Given the description of an element on the screen output the (x, y) to click on. 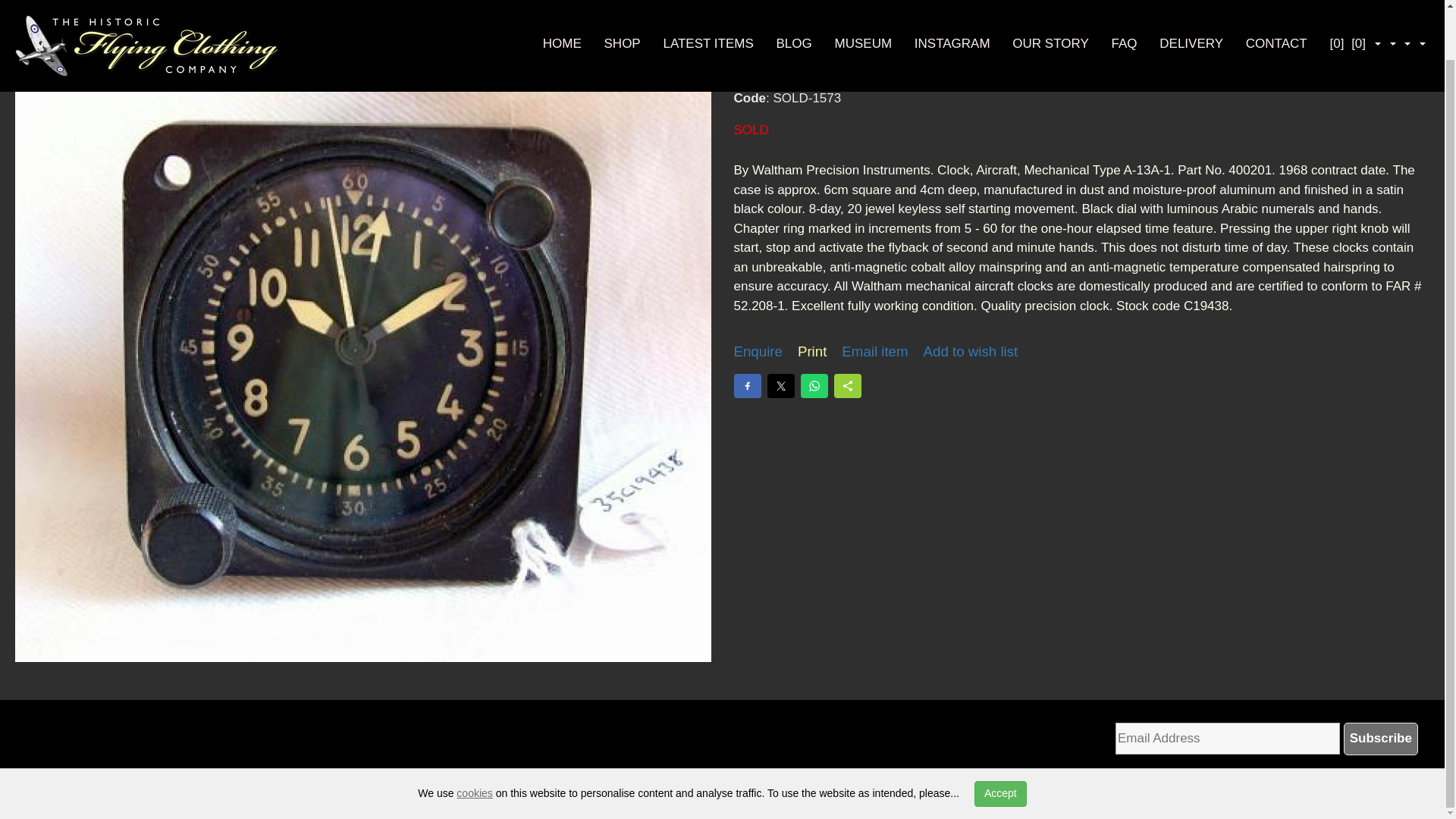
Print (812, 352)
Enquire (758, 352)
Militaria (83, 786)
Email item (874, 352)
The Historic Flying Clothing Company (147, 11)
Subscribe (1380, 738)
Add to wish list (970, 352)
Privacy (699, 786)
